Given the description of an element on the screen output the (x, y) to click on. 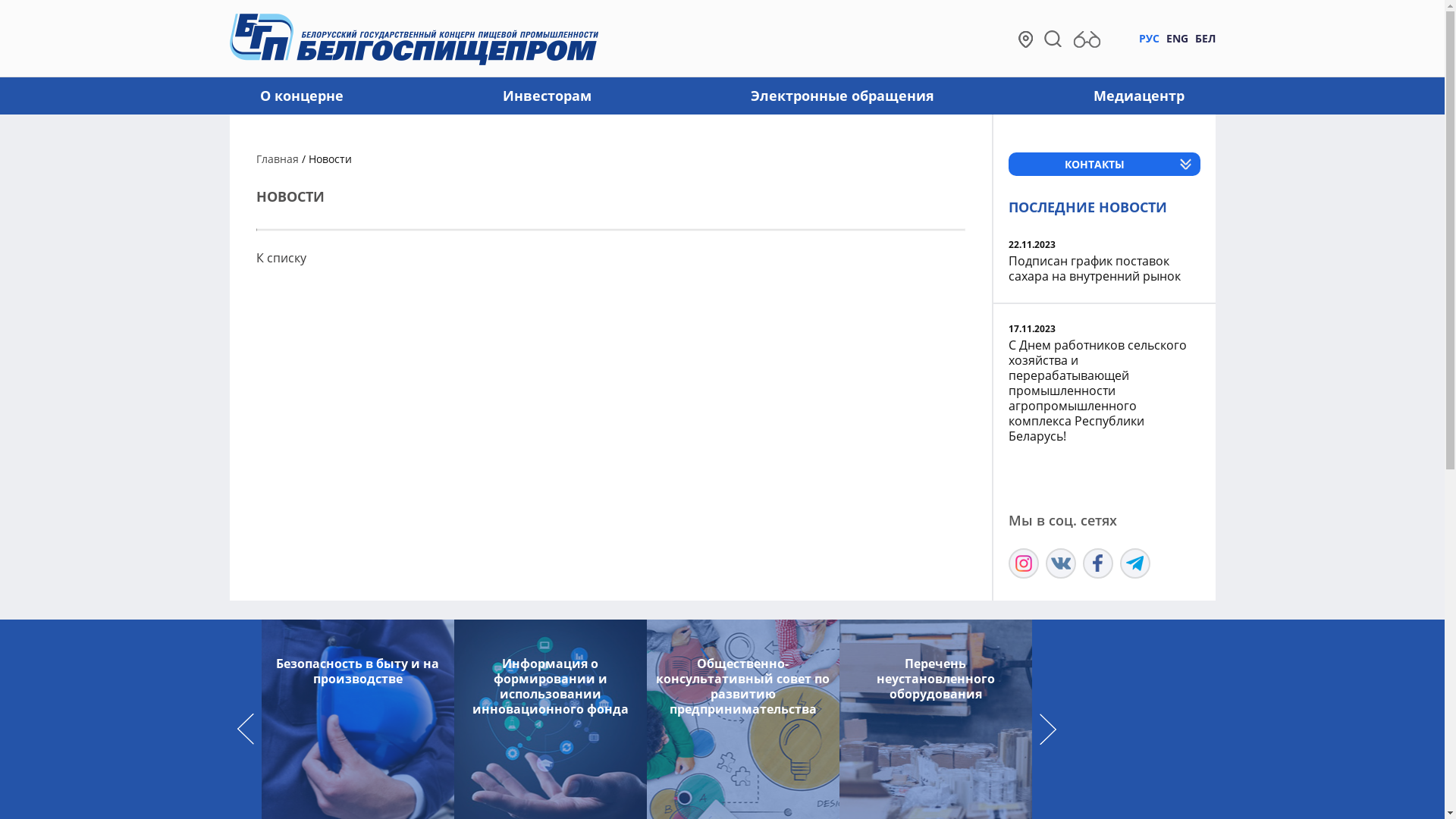
Instagram Element type: hover (1023, 563)
Telegram Element type: hover (1134, 563)
Vk Element type: hover (1059, 563)
Facebook Element type: hover (1097, 563)
ENG Element type: text (1177, 38)
